Given the description of an element on the screen output the (x, y) to click on. 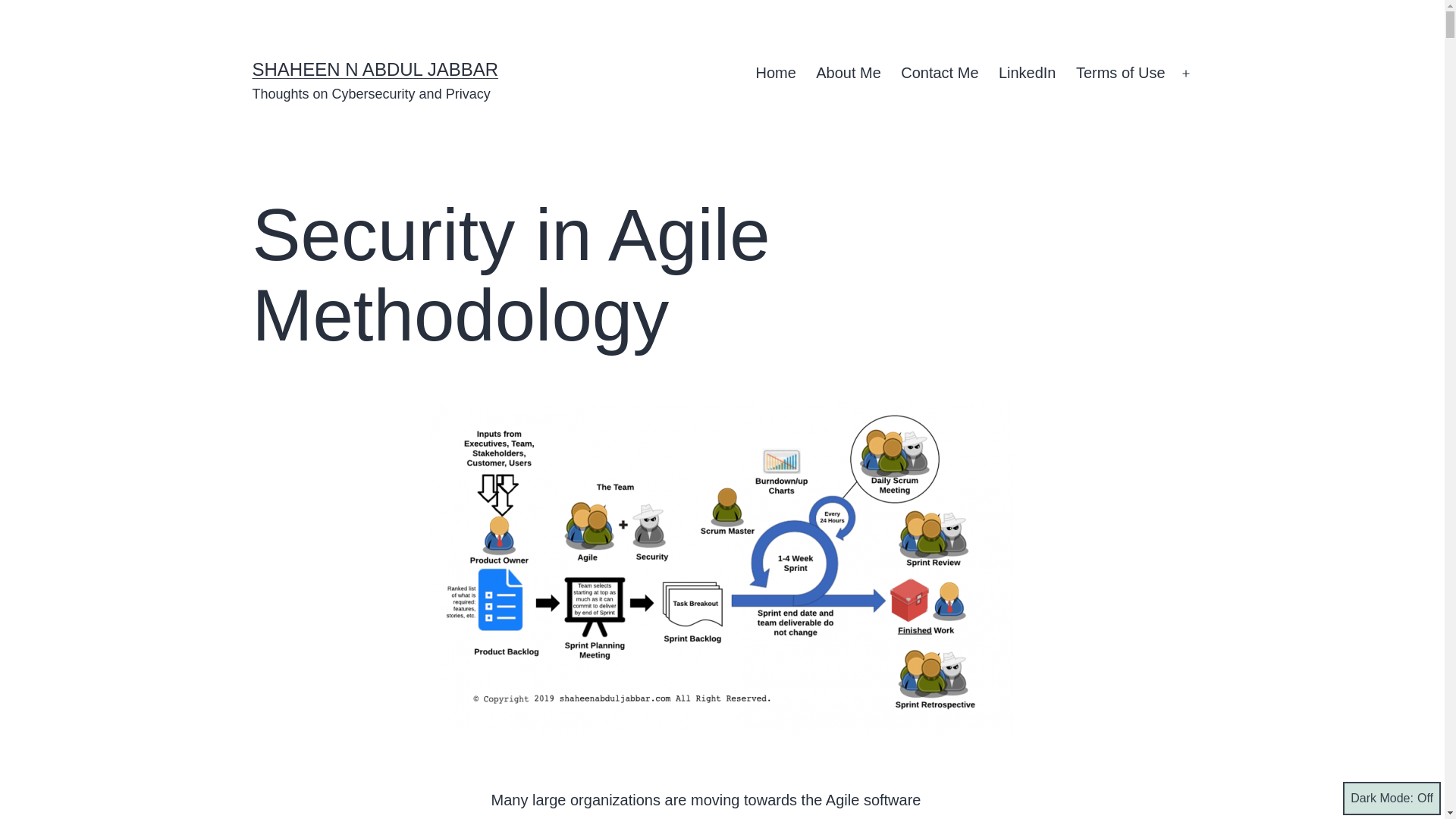
Terms of Use (1119, 73)
About Me (848, 73)
Contact Me (939, 73)
Home (775, 73)
LinkedIn (1026, 73)
SHAHEEN N ABDUL JABBAR (374, 68)
